Given the description of an element on the screen output the (x, y) to click on. 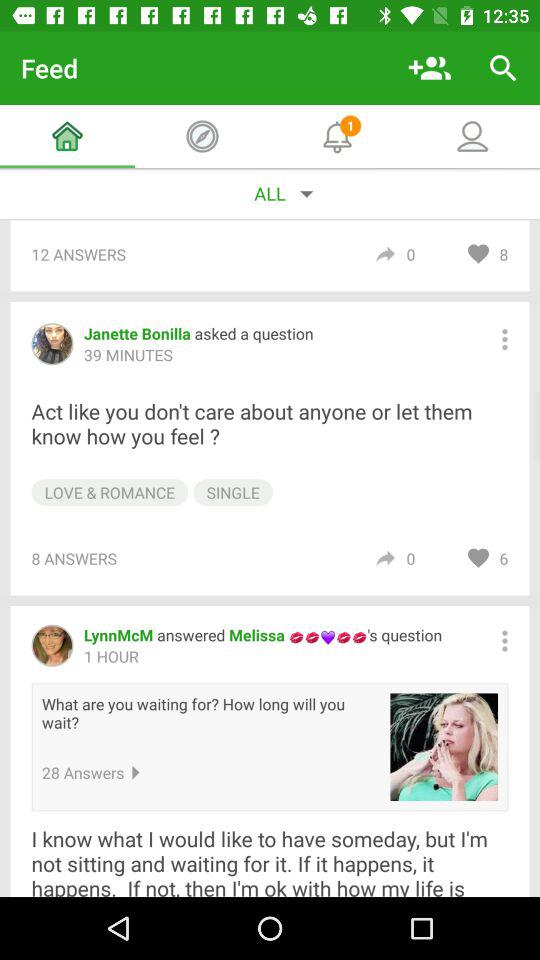
link to something (444, 747)
